Given the description of an element on the screen output the (x, y) to click on. 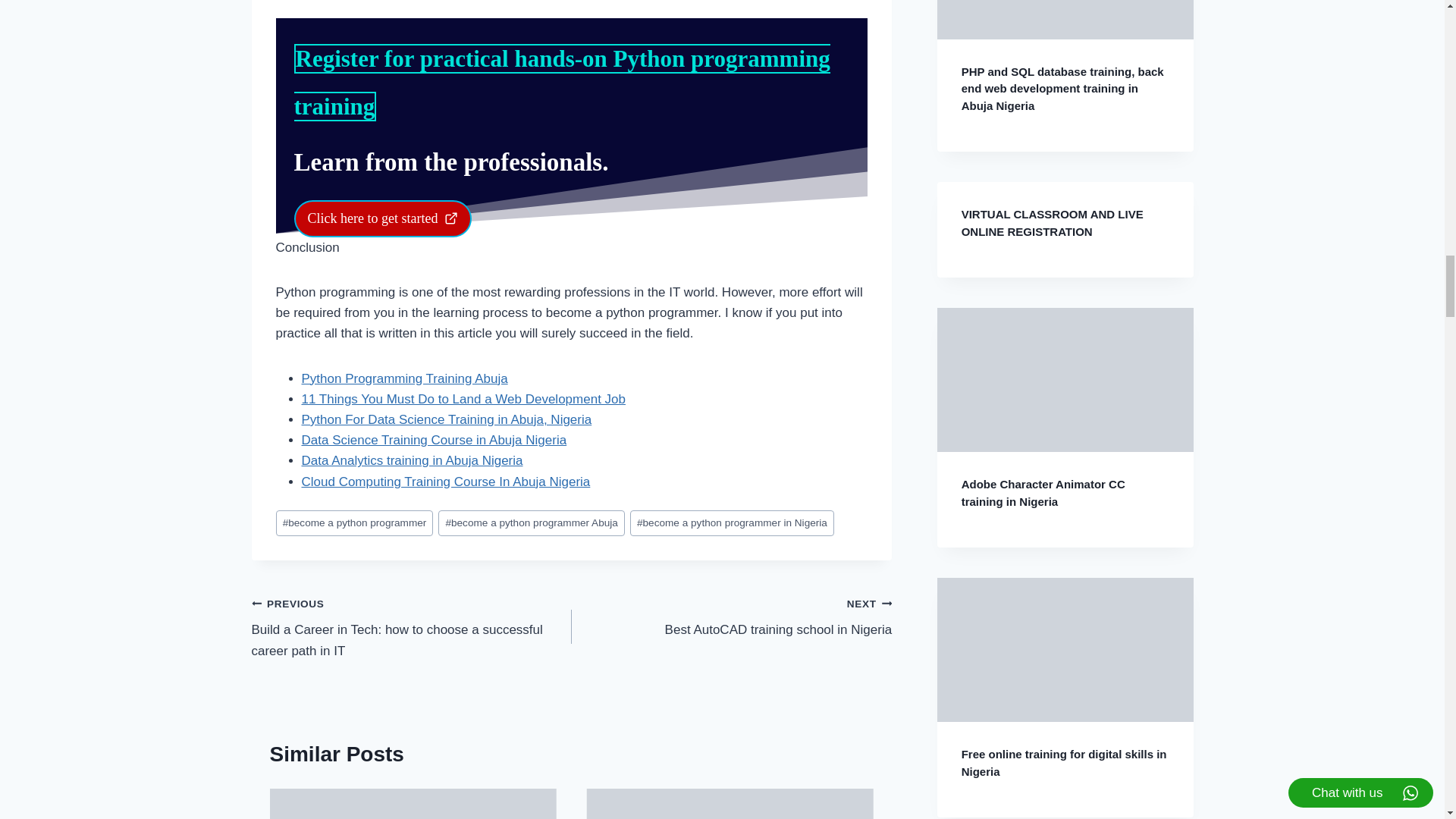
Click here to get started (382, 218)
become a python programmer (354, 523)
Python Programming Training Abuja (404, 378)
become a python programmer in Nigeria (732, 523)
Cloud Computing Training Course In Abuja Nigeria (446, 481)
11 Things You Must Do to Land a Web Development Job (731, 616)
Python For Data Science Training in Abuja, Nigeria (463, 399)
become a python programmer Abuja (446, 419)
